Given the description of an element on the screen output the (x, y) to click on. 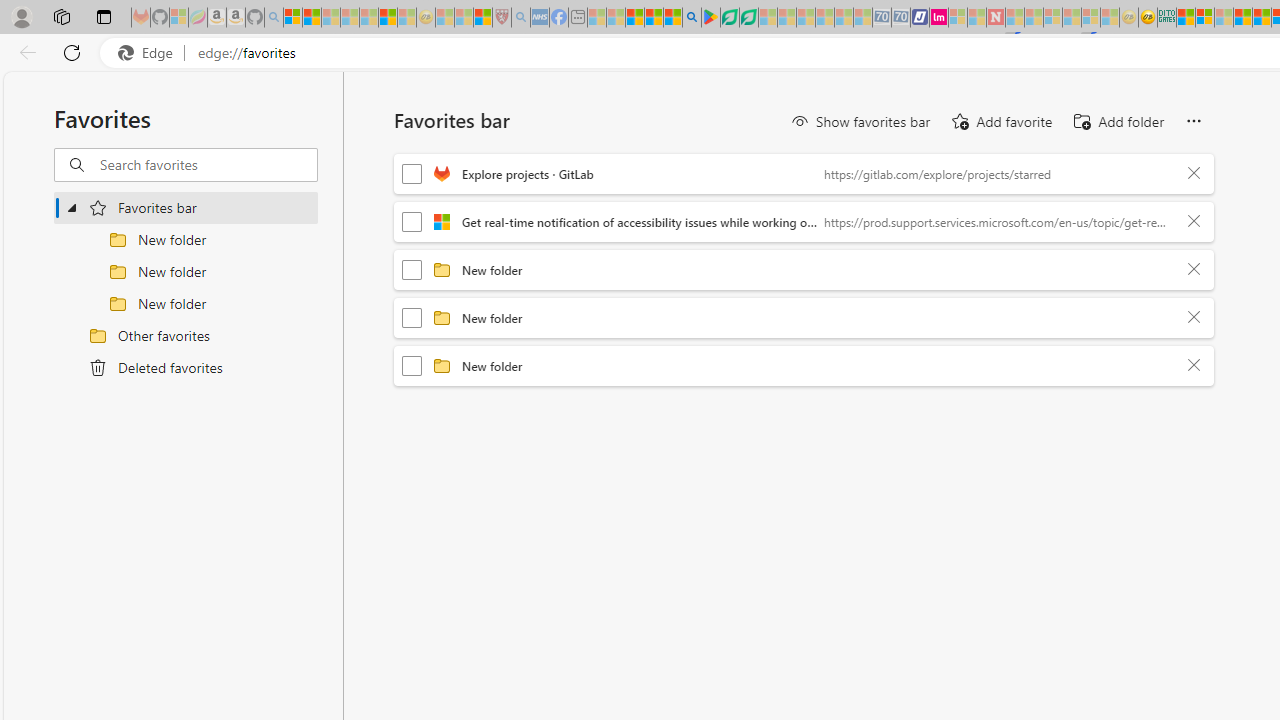
Latest Politics News & Archive | Newsweek.com - Sleeping (995, 17)
Expert Portfolios (1242, 17)
Kinda Frugal - MSN (1262, 17)
New tab - Sleeping (578, 17)
Recipes - MSN - Sleeping (445, 17)
